Given the description of an element on the screen output the (x, y) to click on. 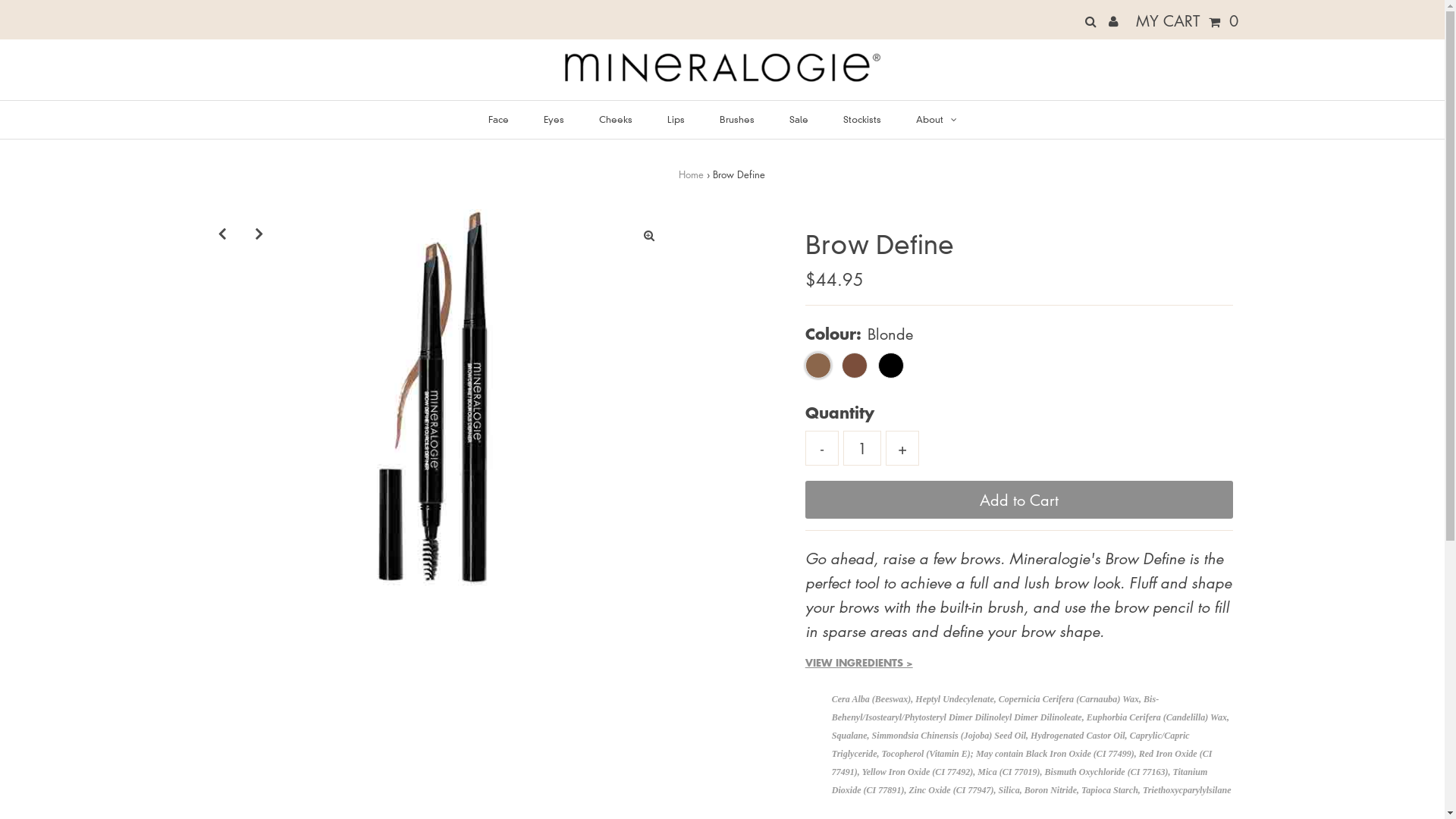
Lips Element type: text (675, 119)
Add to Cart Element type: text (1019, 499)
Sale Element type: text (797, 119)
Stockists Element type: text (862, 119)
- Element type: text (821, 447)
About Element type: text (936, 119)
Face Element type: text (498, 119)
VIEW INGREDIENTS > Element type: text (859, 662)
Eyes Element type: text (552, 119)
Cheeks Element type: text (615, 119)
MY CART    0 Element type: text (1186, 20)
+ Element type: text (902, 447)
Home Element type: text (690, 173)
Brushes Element type: text (735, 119)
